Given the description of an element on the screen output the (x, y) to click on. 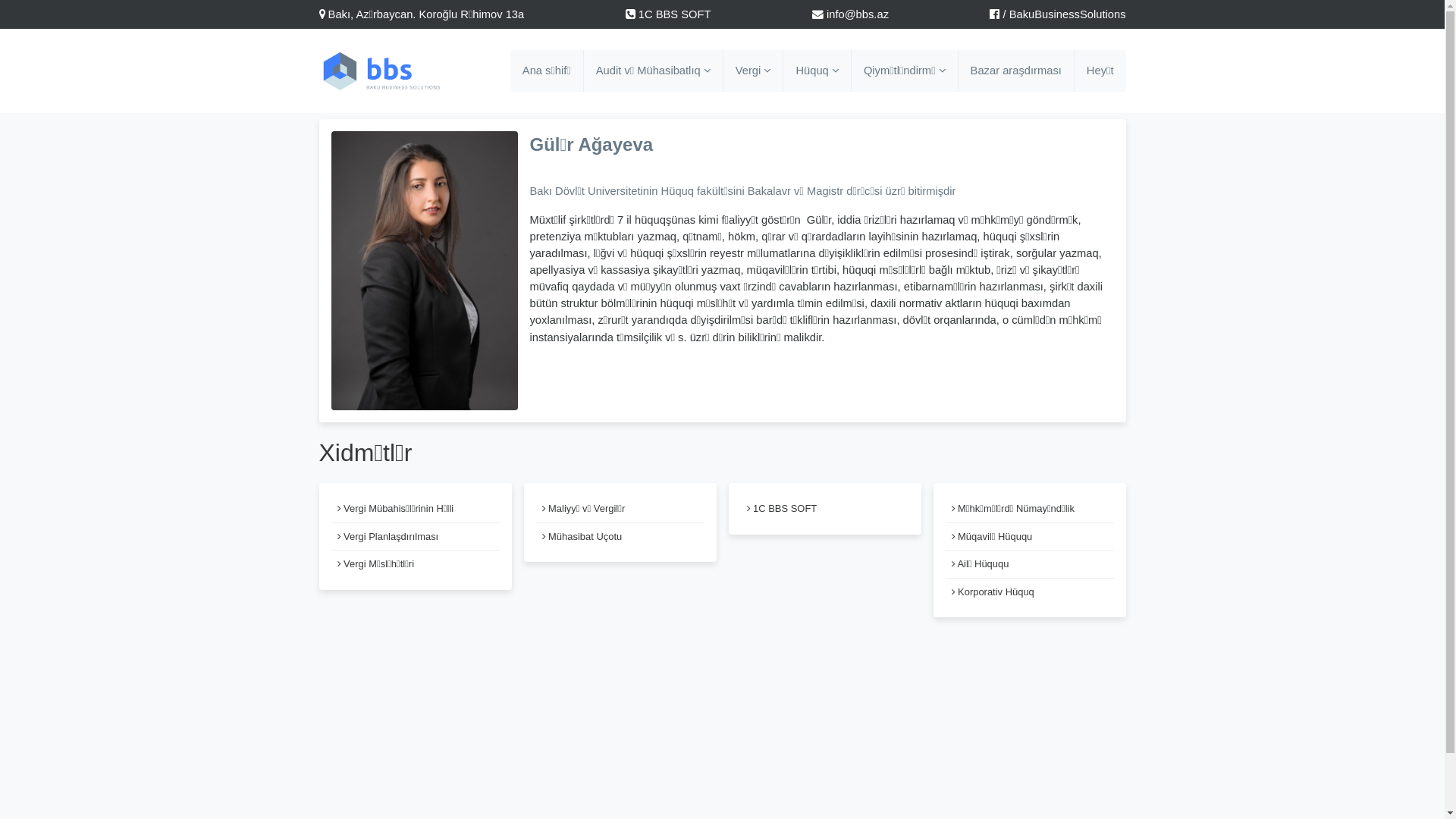
Vergi Element type: text (753, 70)
1C BBS SOFT Element type: text (824, 508)
1C BBS SOFT Element type: text (668, 14)
info@bbs.az Element type: text (850, 14)
/ BakuBusinessSolutions Element type: text (1057, 14)
